Given the description of an element on the screen output the (x, y) to click on. 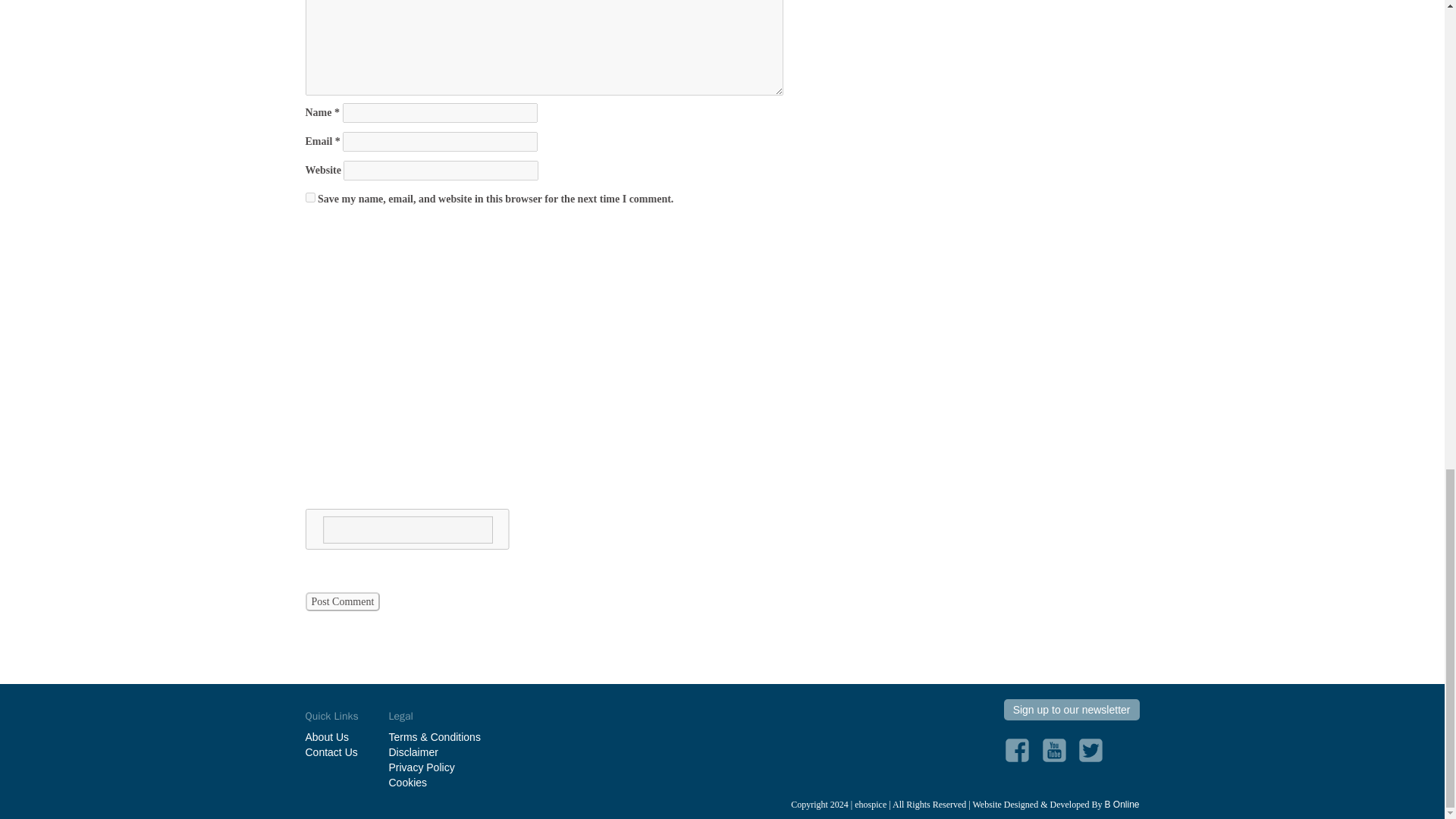
yes (309, 197)
Post Comment (342, 600)
